Given the description of an element on the screen output the (x, y) to click on. 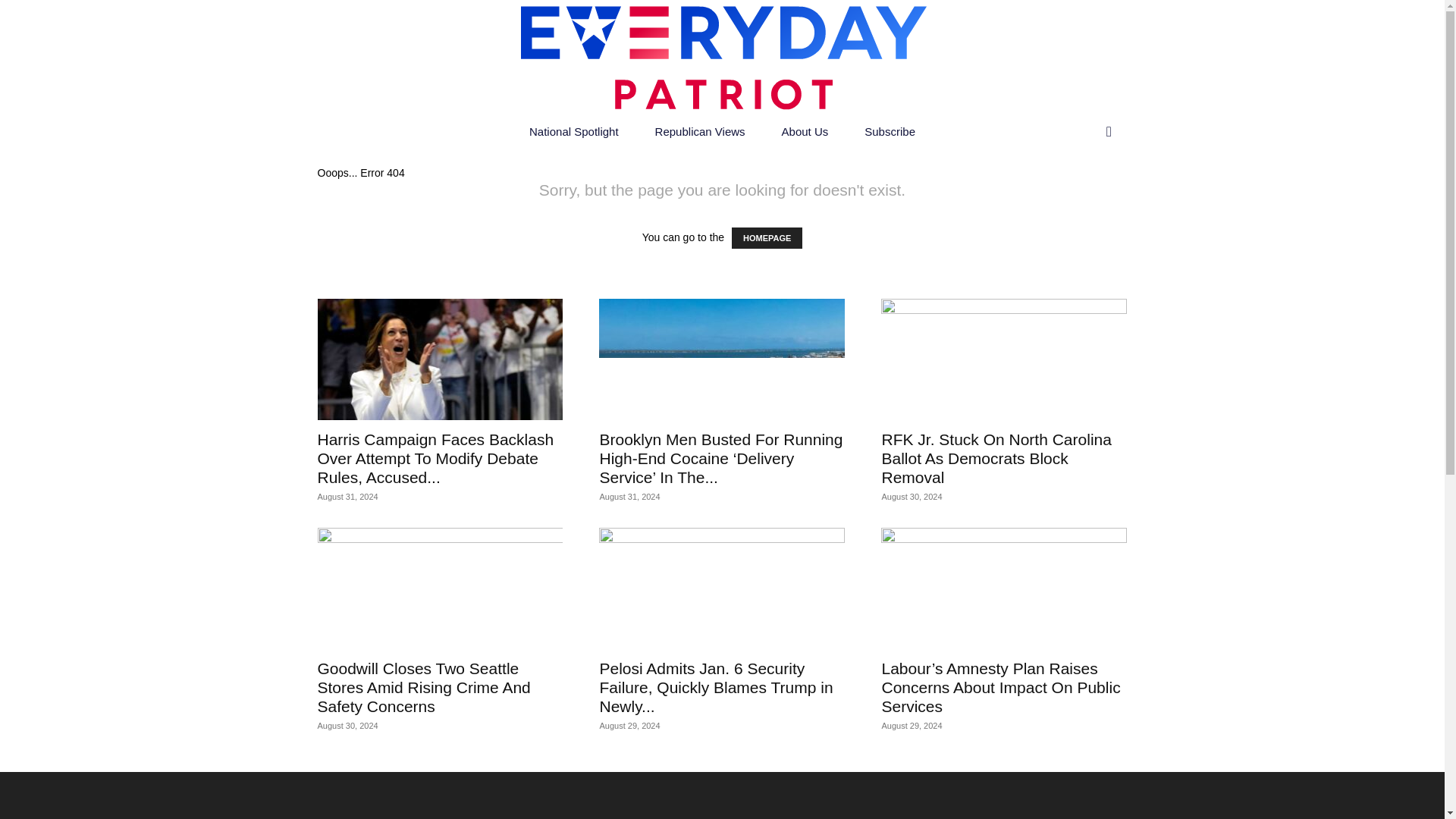
About Us (804, 131)
National Spotlight (574, 131)
Search (1077, 192)
Subscribe (889, 131)
